Given the description of an element on the screen output the (x, y) to click on. 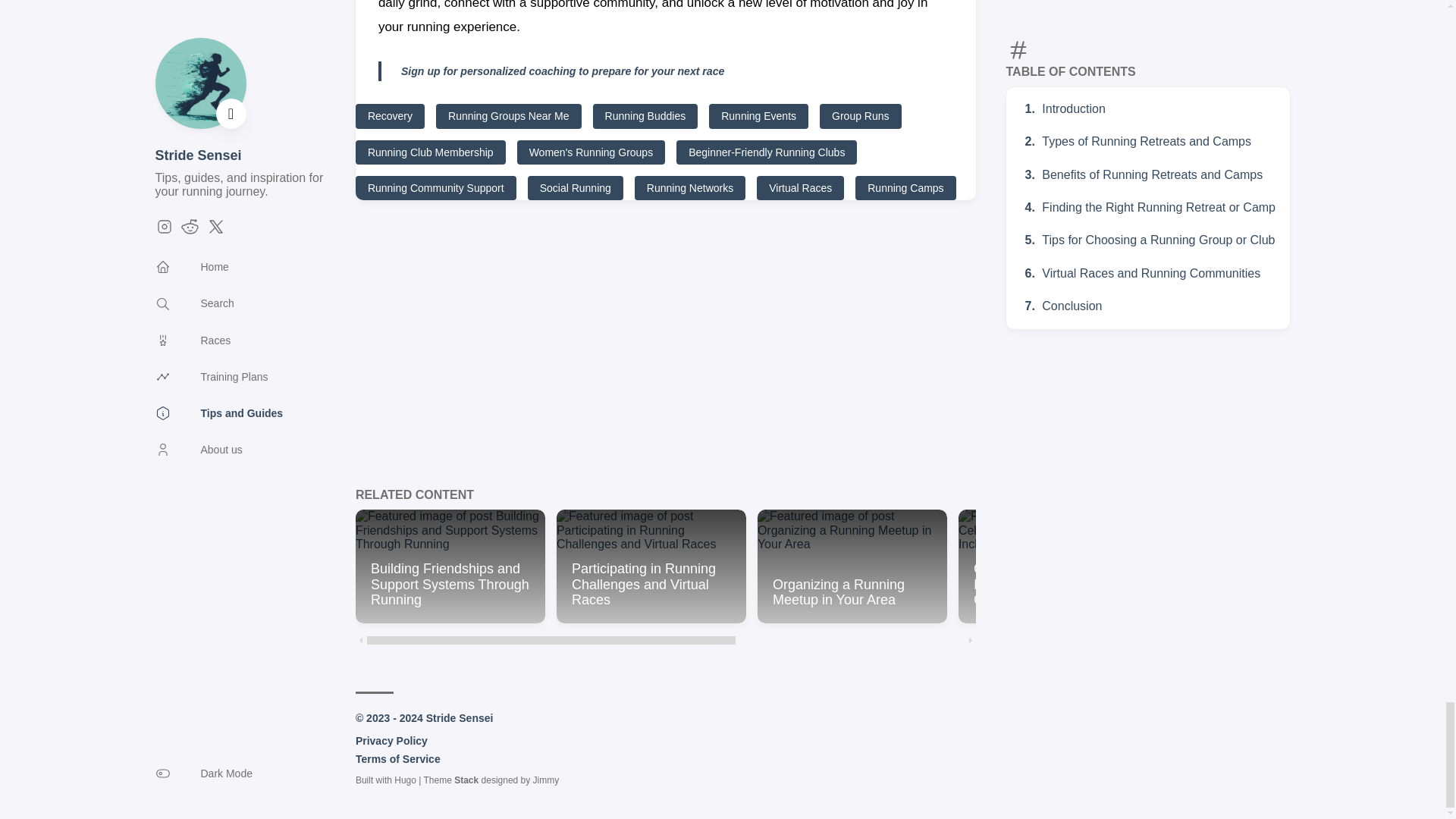
Women's Running Groups (590, 152)
Social Running (575, 187)
Virtual Races (800, 187)
Recovery (390, 115)
Running Events (758, 115)
Running Buddies (645, 115)
Participating in Running Challenges and Virtual Races (650, 566)
Building Friendships and Support Systems Through Running (449, 566)
Group Runs (860, 115)
Running Networks (689, 187)
Beginner-Friendly Running Clubs (767, 152)
Running Groups Near Me (507, 115)
Running Camps (905, 187)
Running Community Support (435, 187)
